Given the description of an element on the screen output the (x, y) to click on. 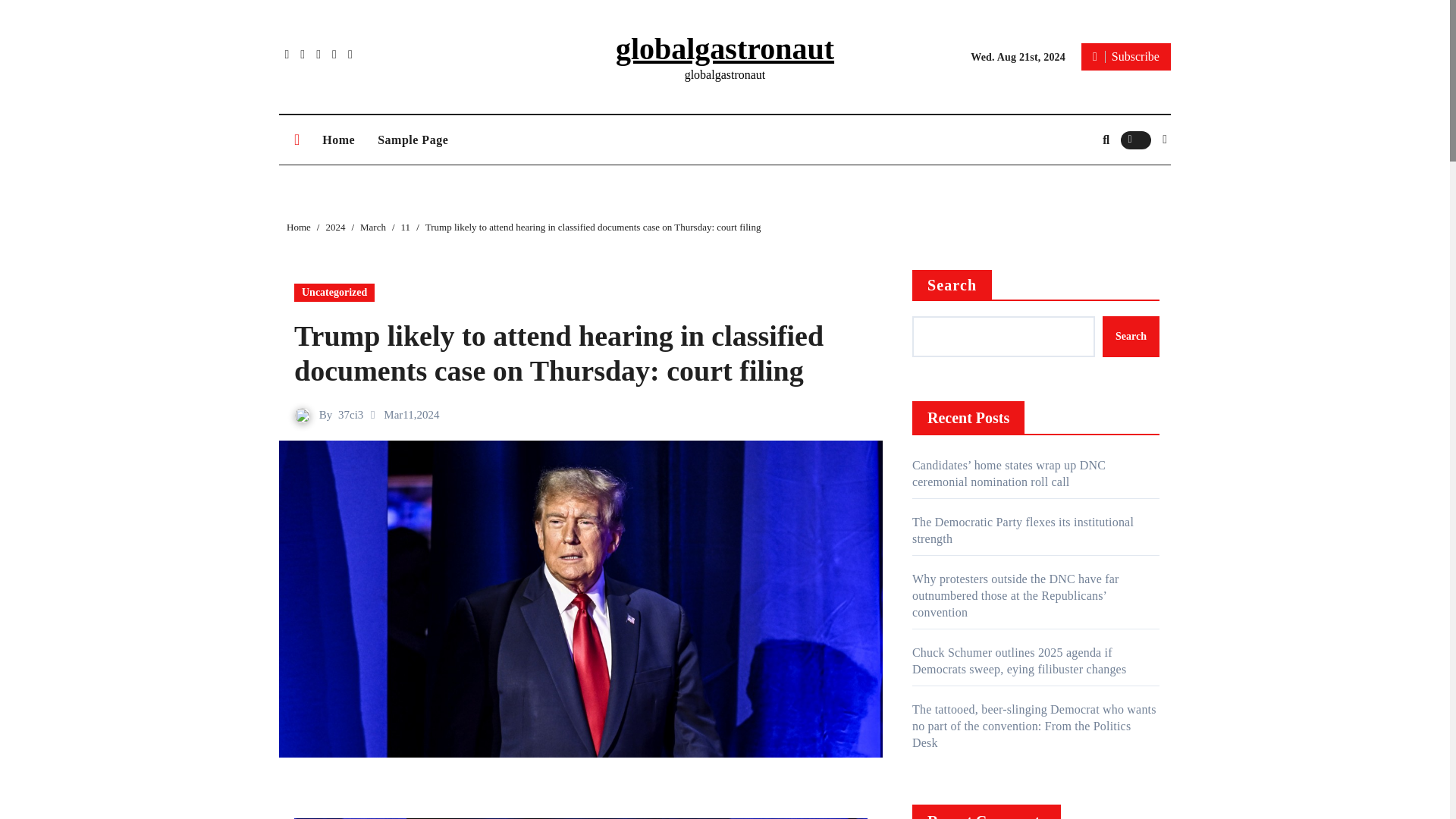
Home (338, 139)
Uncategorized (334, 292)
Sample Page (413, 139)
37ci3 (349, 413)
2024 (334, 226)
globalgastronaut (724, 48)
Home (338, 139)
Home (298, 226)
March (372, 226)
Subscribe (1125, 56)
